Given the description of an element on the screen output the (x, y) to click on. 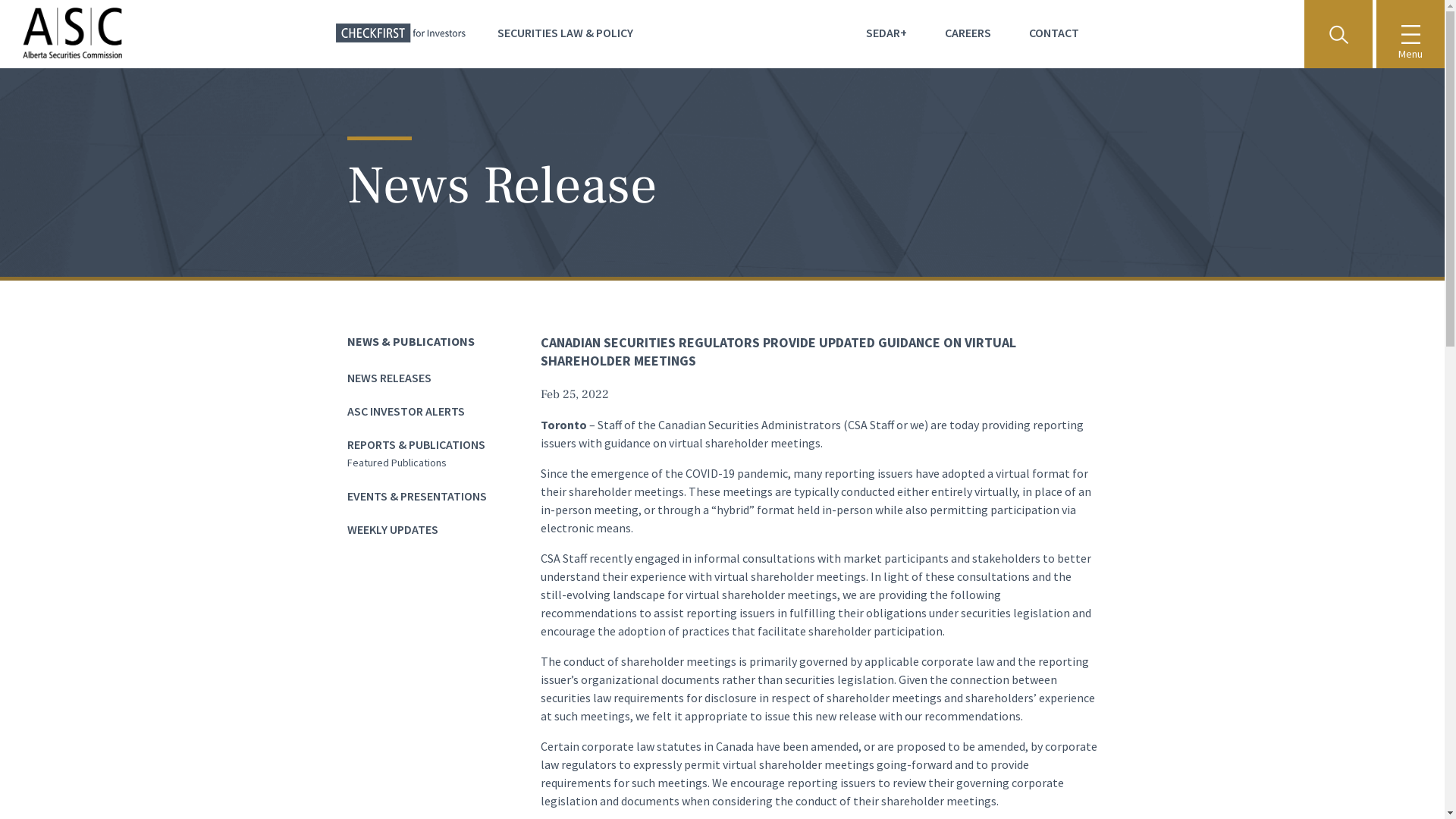
NEWS RELEASES Element type: text (389, 377)
SEDAR+ Element type: text (886, 32)
EVENTS & PRESENTATIONS Element type: text (416, 495)
WEEKLY UPDATES Element type: text (392, 528)
SECURITIES LAW & POLICY Element type: text (564, 32)
CAREERS Element type: text (967, 32)
NEWS & PUBLICATIONS Element type: text (410, 340)
CONTACT Element type: text (1052, 32)
Featured Publications Element type: text (396, 462)
REPORTS & PUBLICATIONS Element type: text (416, 443)
ASC INVESTOR ALERTS Element type: text (405, 410)
